Given the description of an element on the screen output the (x, y) to click on. 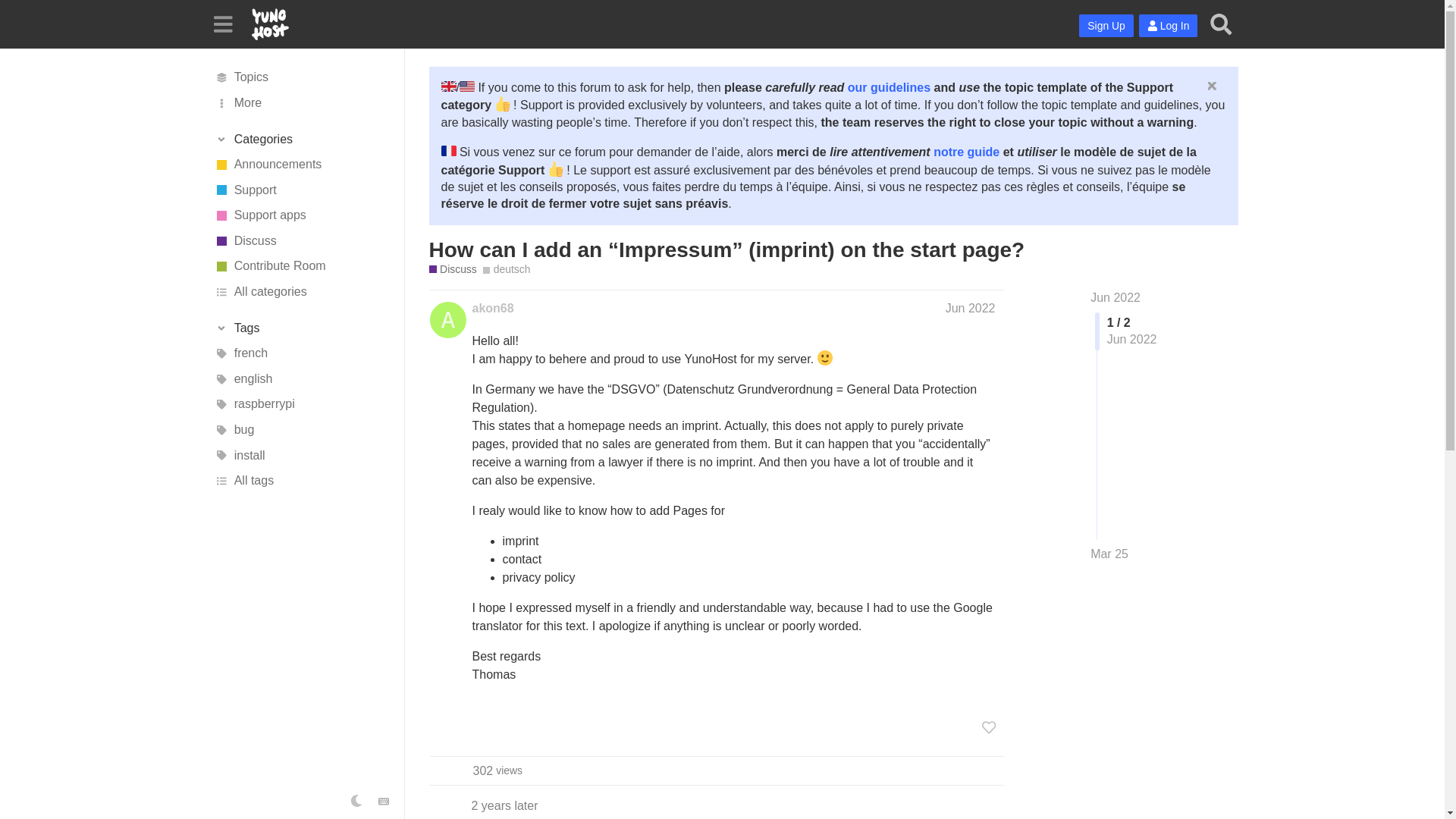
Sidebar (222, 23)
Announcements (301, 164)
our guidelines (888, 87)
deutsch (507, 269)
french (301, 353)
raspberrypi (301, 404)
Discuss (453, 269)
Toggle section (301, 139)
Toggle section (301, 328)
